Given the description of an element on the screen output the (x, y) to click on. 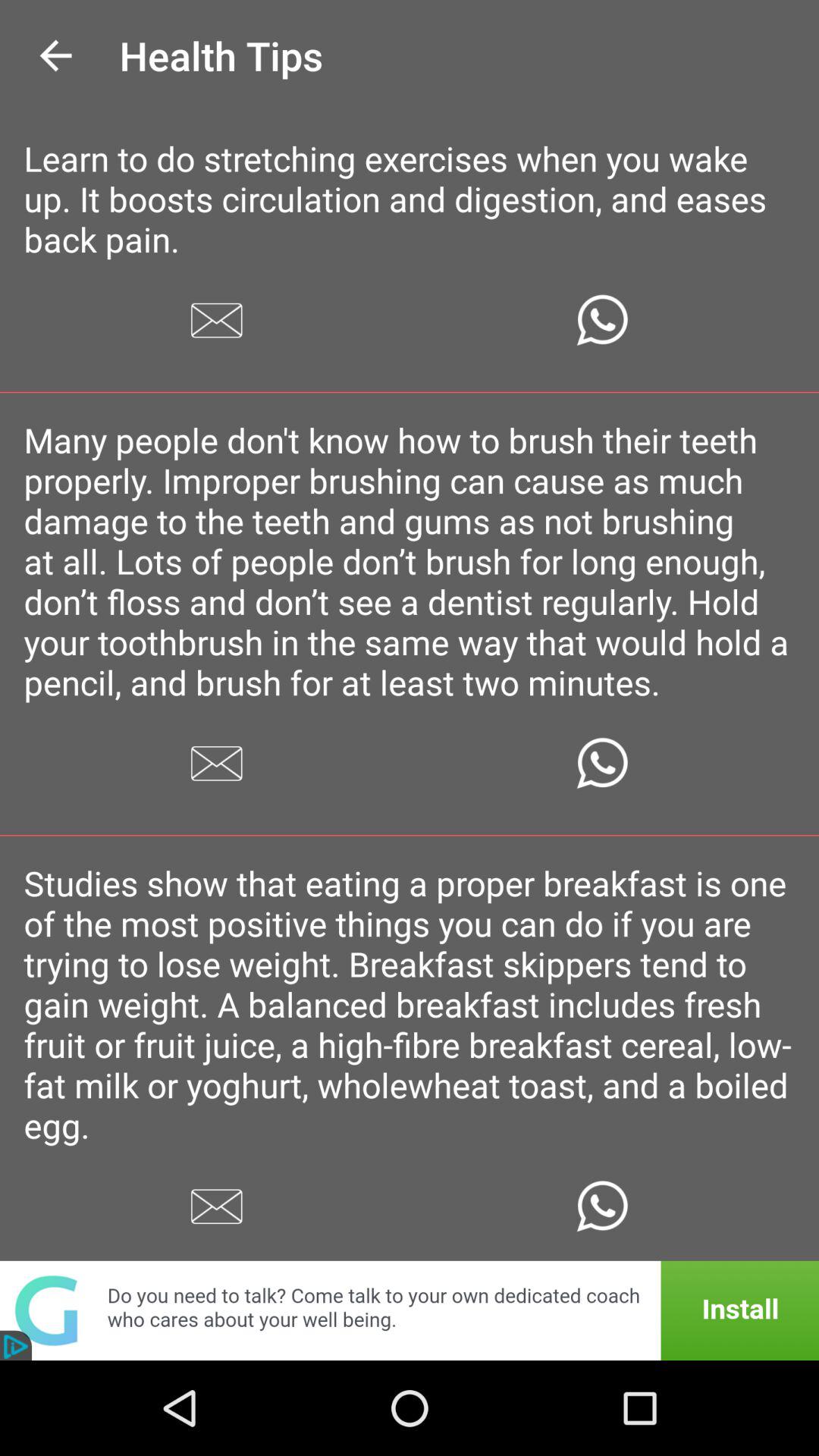
flip until studies show that (409, 1003)
